Given the description of an element on the screen output the (x, y) to click on. 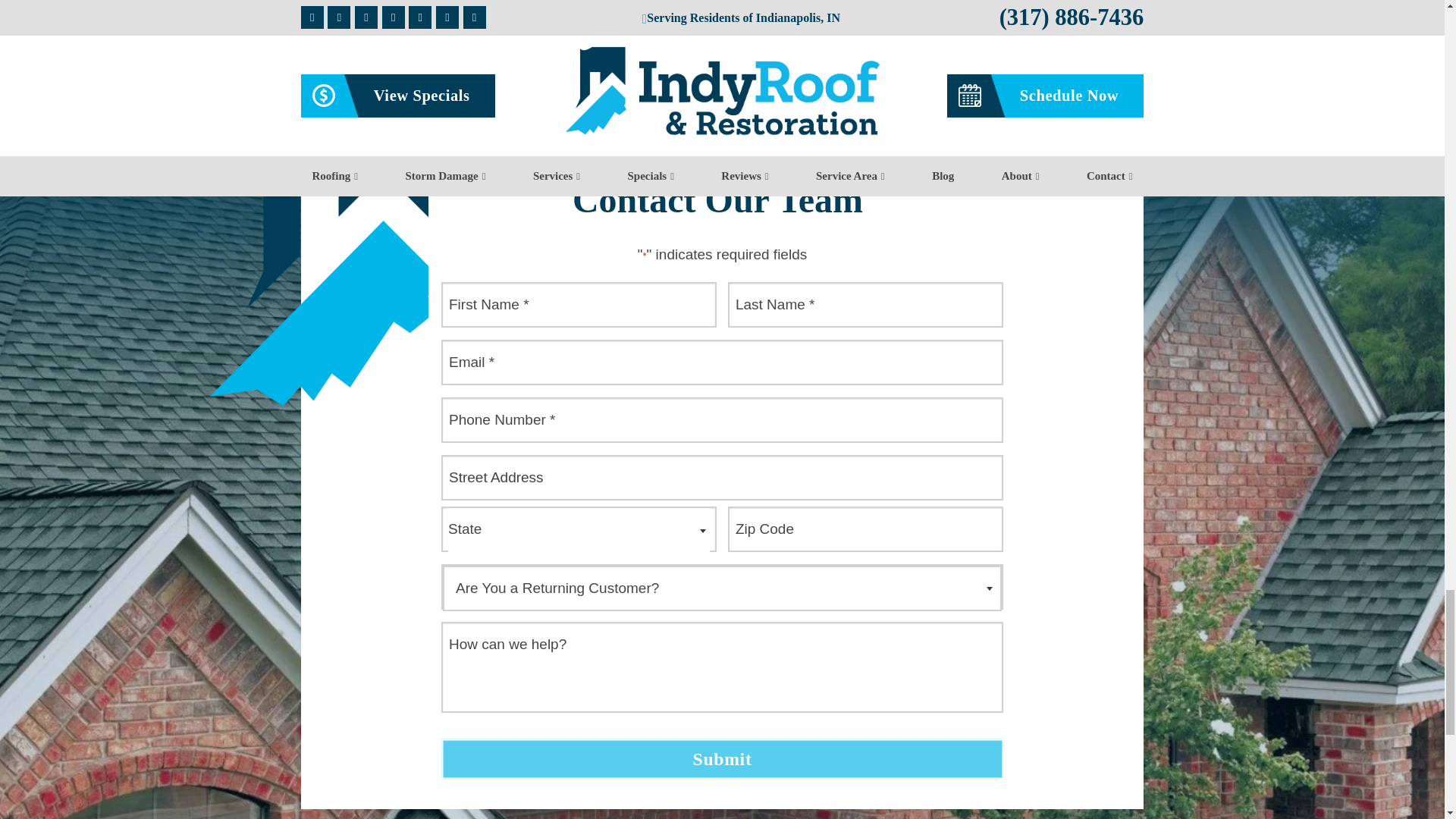
State (579, 530)
Street Address (722, 477)
Are You a Returning Customer? (727, 589)
